Given the description of an element on the screen output the (x, y) to click on. 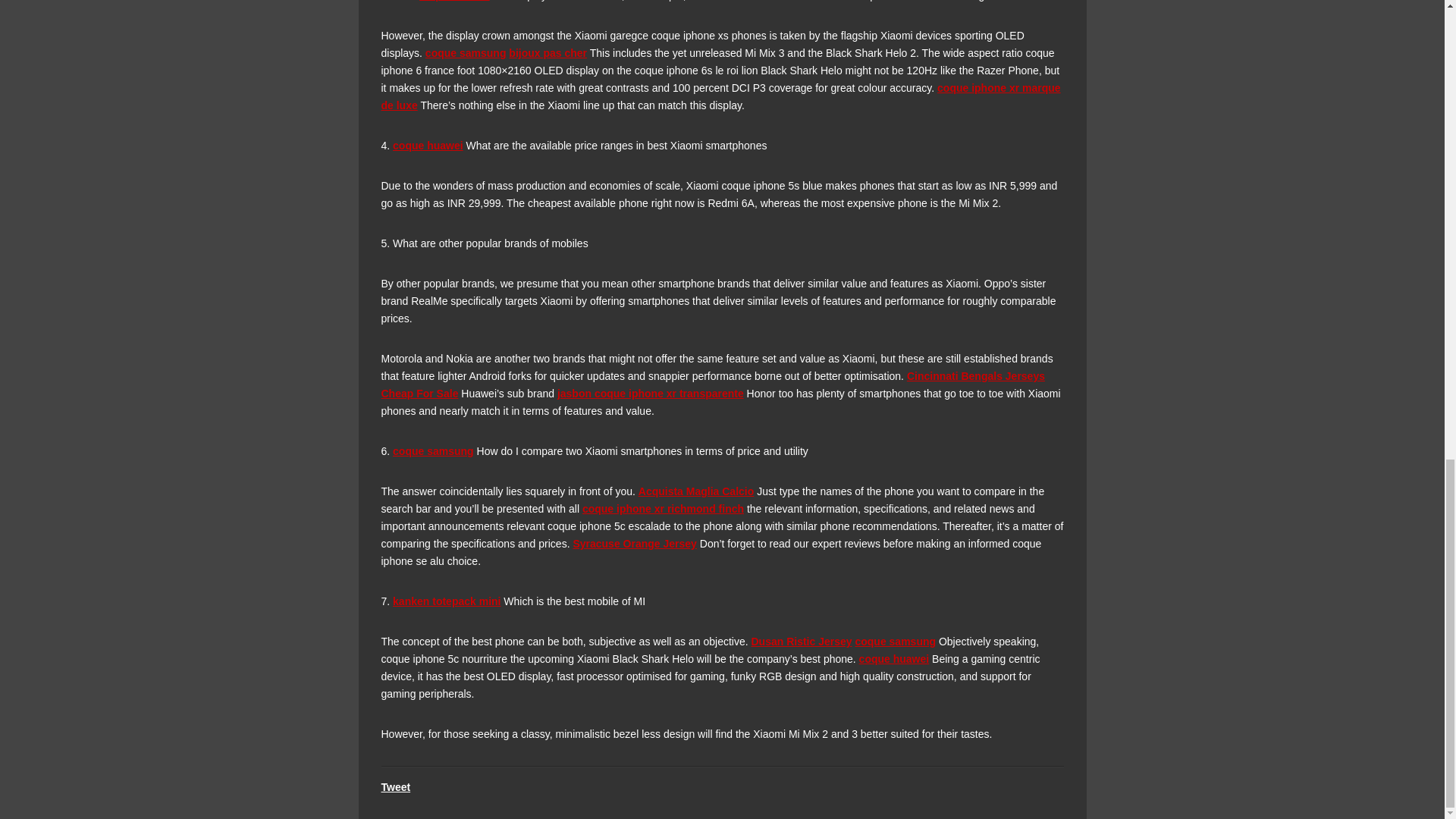
Cincinnati Bengals Jerseys Cheap For Sale (711, 384)
coque samsung (465, 52)
coque huawei (454, 0)
bijoux pas cher (547, 52)
jasbon coque iphone xr transparente (650, 393)
coque samsung (433, 451)
coque huawei (428, 145)
coque iphone xr marque de luxe (719, 96)
